Given the description of an element on the screen output the (x, y) to click on. 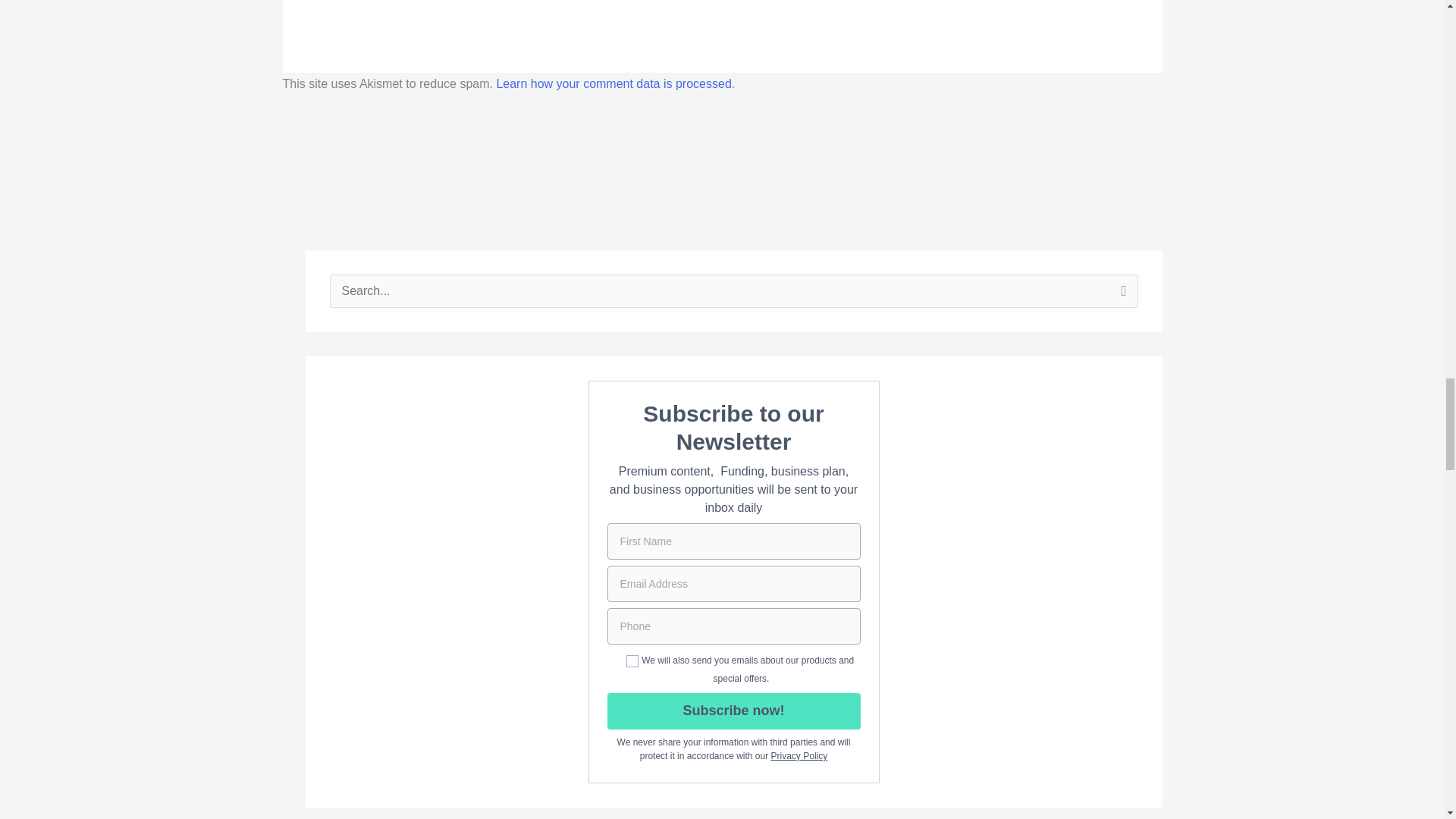
Learn how your comment data is processed (613, 83)
Search (1120, 295)
Search (1120, 295)
Search (1120, 295)
Comment Form (721, 8)
